Given the description of an element on the screen output the (x, y) to click on. 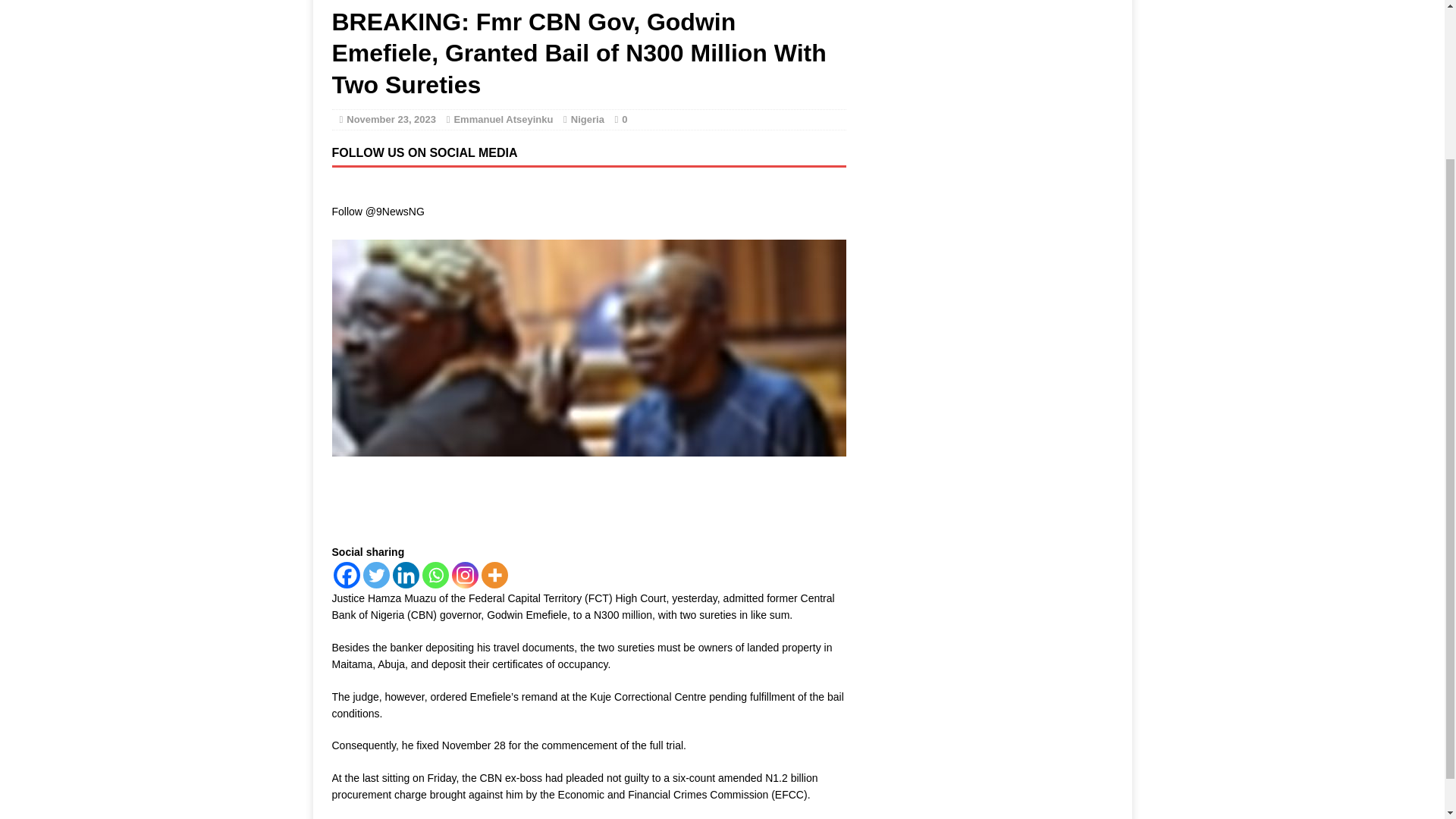
November 23, 2023 (390, 119)
Linkedin (406, 574)
Instagram (465, 574)
More (493, 574)
Nigeria (587, 119)
Twitter (375, 574)
Emmanuel Atseyinku (502, 119)
0 (624, 119)
0 (624, 119)
Whatsapp (435, 574)
Facebook (346, 574)
